Given the description of an element on the screen output the (x, y) to click on. 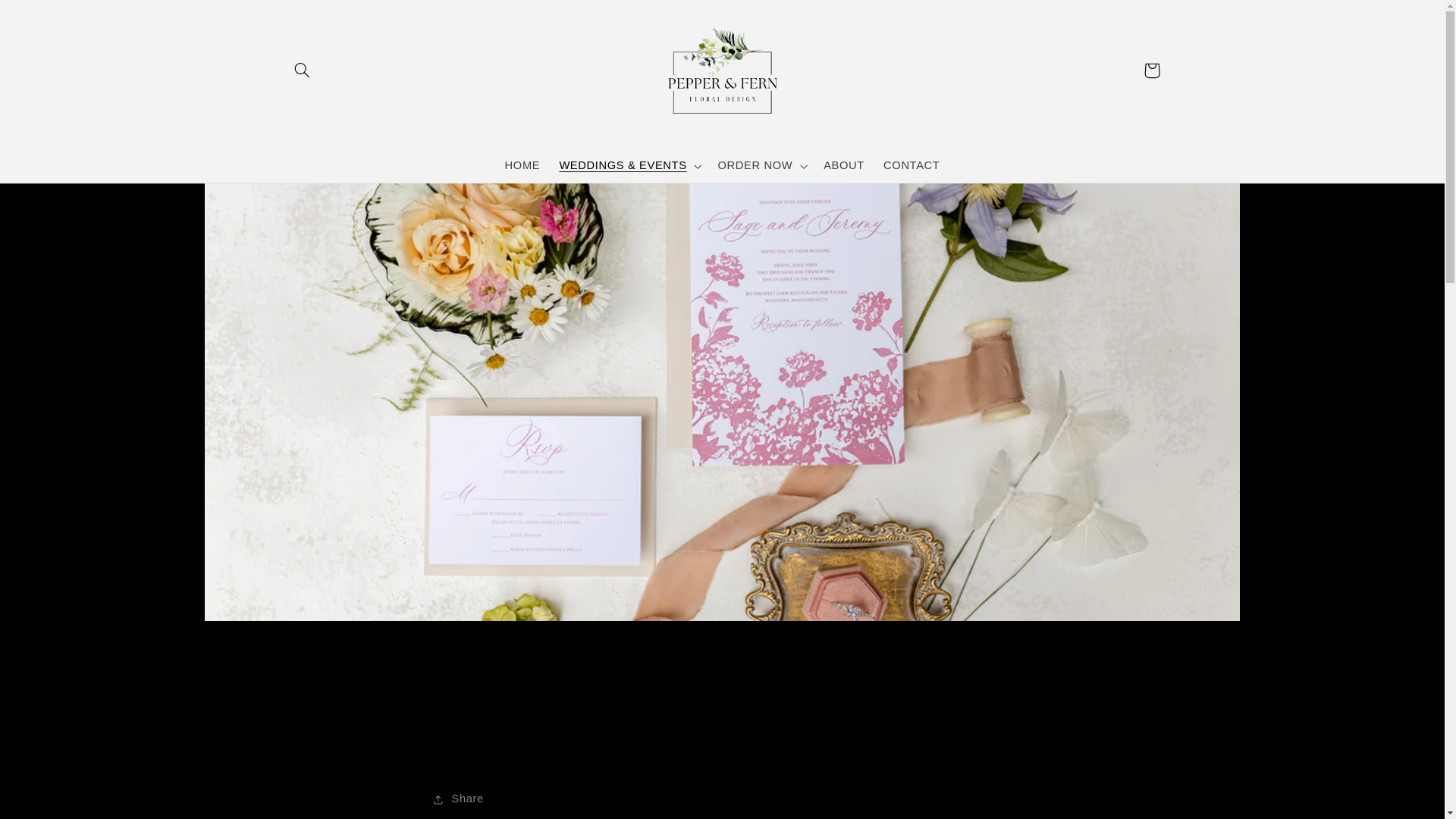
CONTACT (911, 165)
Skip to content (48, 18)
Cart (1151, 70)
ABOUT (844, 165)
HOME (522, 165)
